Given the description of an element on the screen output the (x, y) to click on. 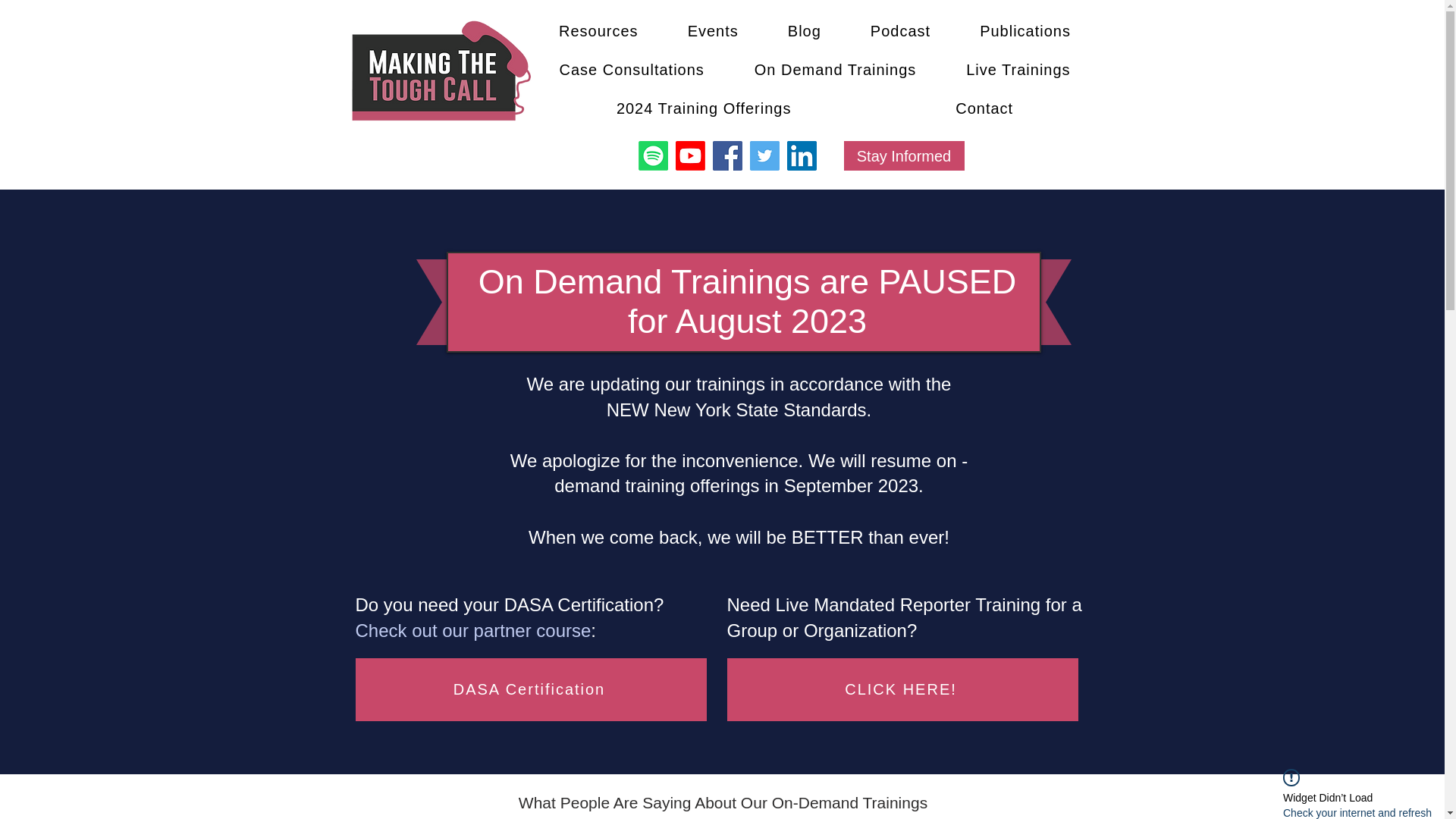
Case Consultations (631, 70)
Blog (804, 31)
Resources (598, 31)
Live Trainings (1017, 70)
Publications (1025, 31)
DASA Certification (530, 689)
On Demand Trainings (834, 70)
Podcast (900, 31)
Events (712, 31)
CLICK HERE! (901, 689)
Contact (984, 108)
2024 Training Offerings (703, 108)
Stay Informed (903, 155)
